Given the description of an element on the screen output the (x, y) to click on. 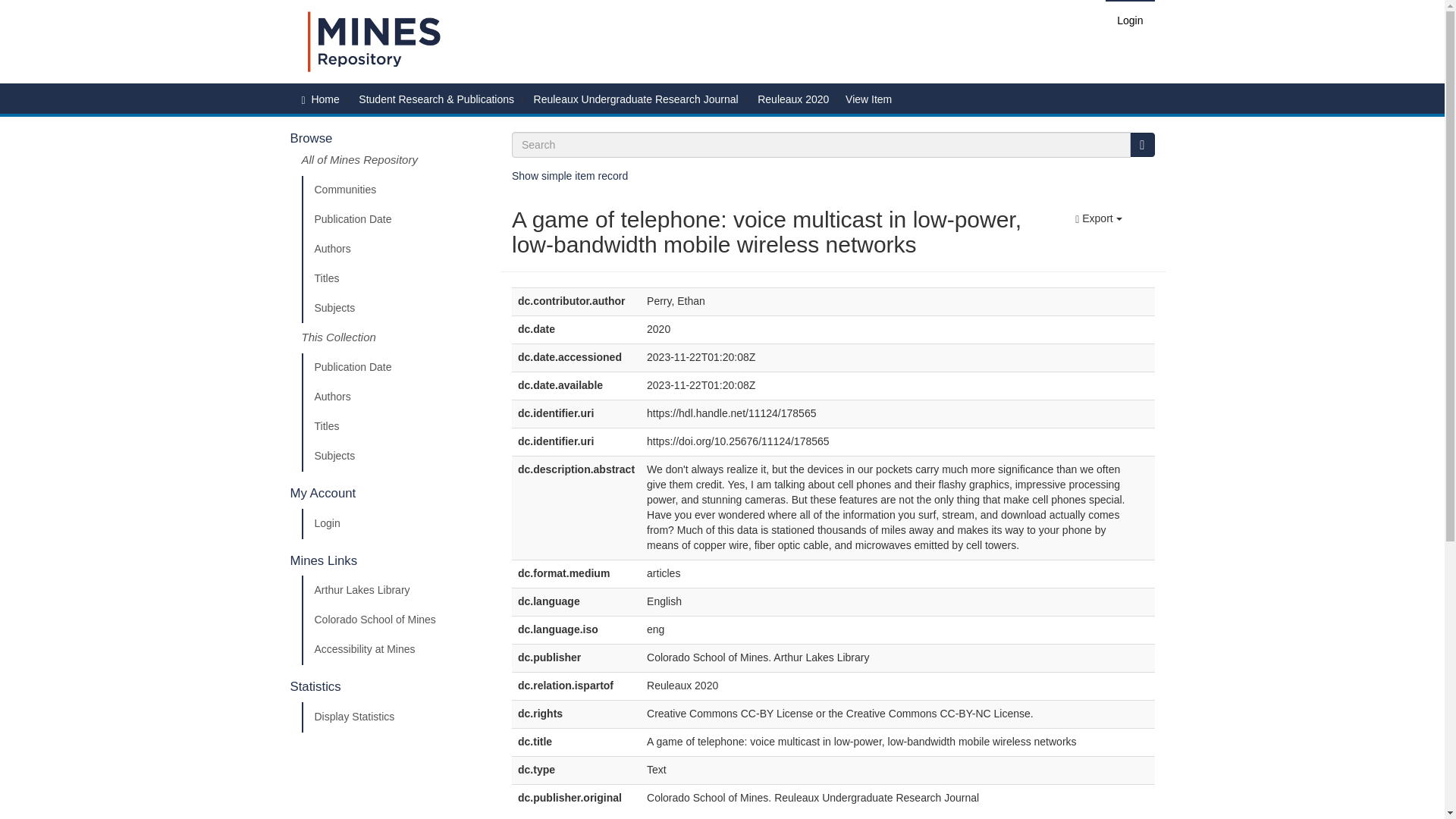
This Collection (395, 337)
Go (1141, 144)
Arthur Lakes Library (395, 590)
Display Statistics (395, 716)
Export (1098, 218)
Home (325, 99)
Login (1129, 19)
Authors (395, 249)
Communities (395, 190)
Subjects (395, 456)
